Given the description of an element on the screen output the (x, y) to click on. 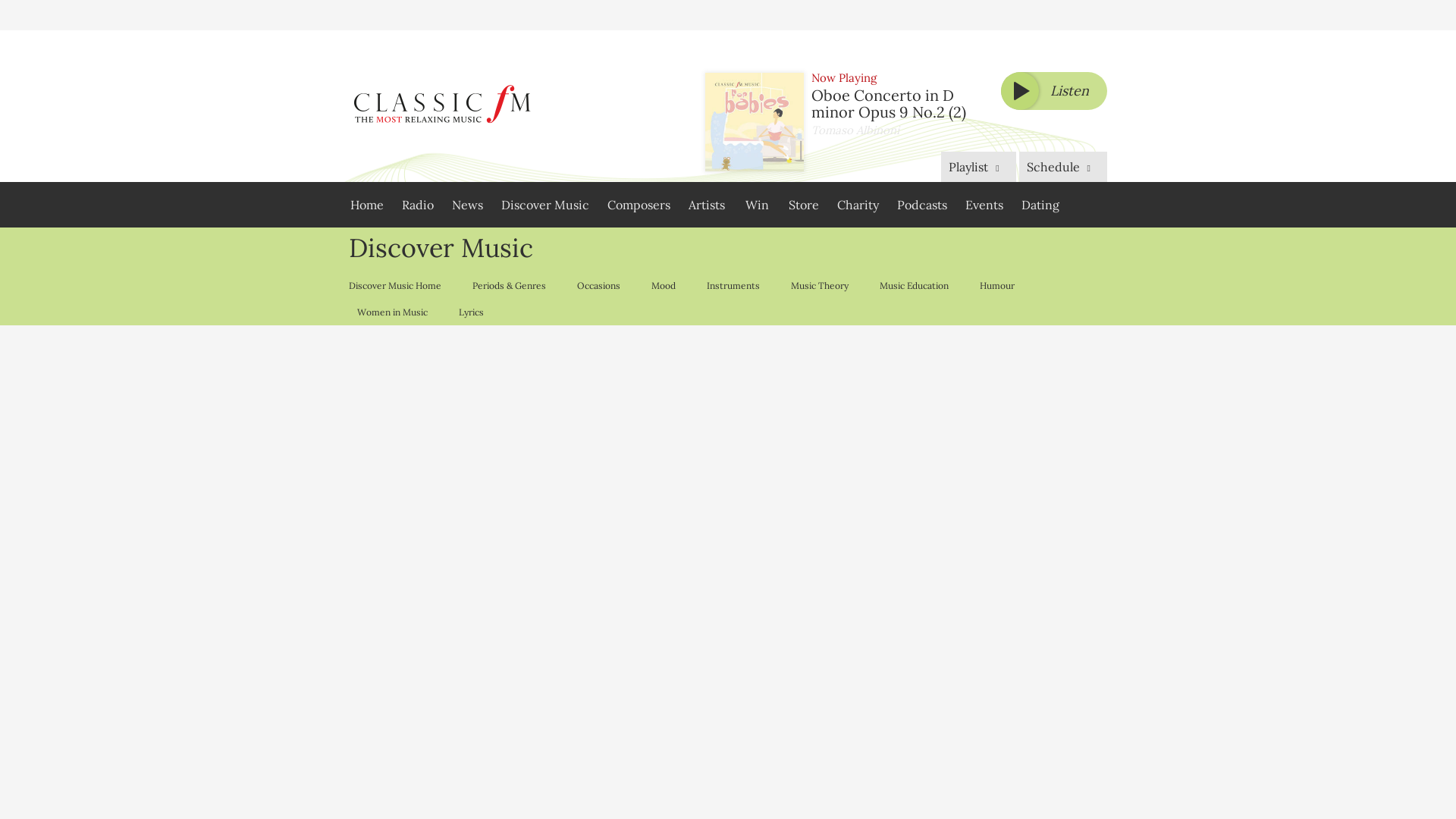
News (467, 204)
Instruments (732, 285)
Music Education (913, 285)
Lyrics (470, 311)
Composers (638, 204)
Humour (996, 285)
Radio (417, 204)
Events (983, 204)
Dating (1039, 204)
Store (803, 204)
